Given the description of an element on the screen output the (x, y) to click on. 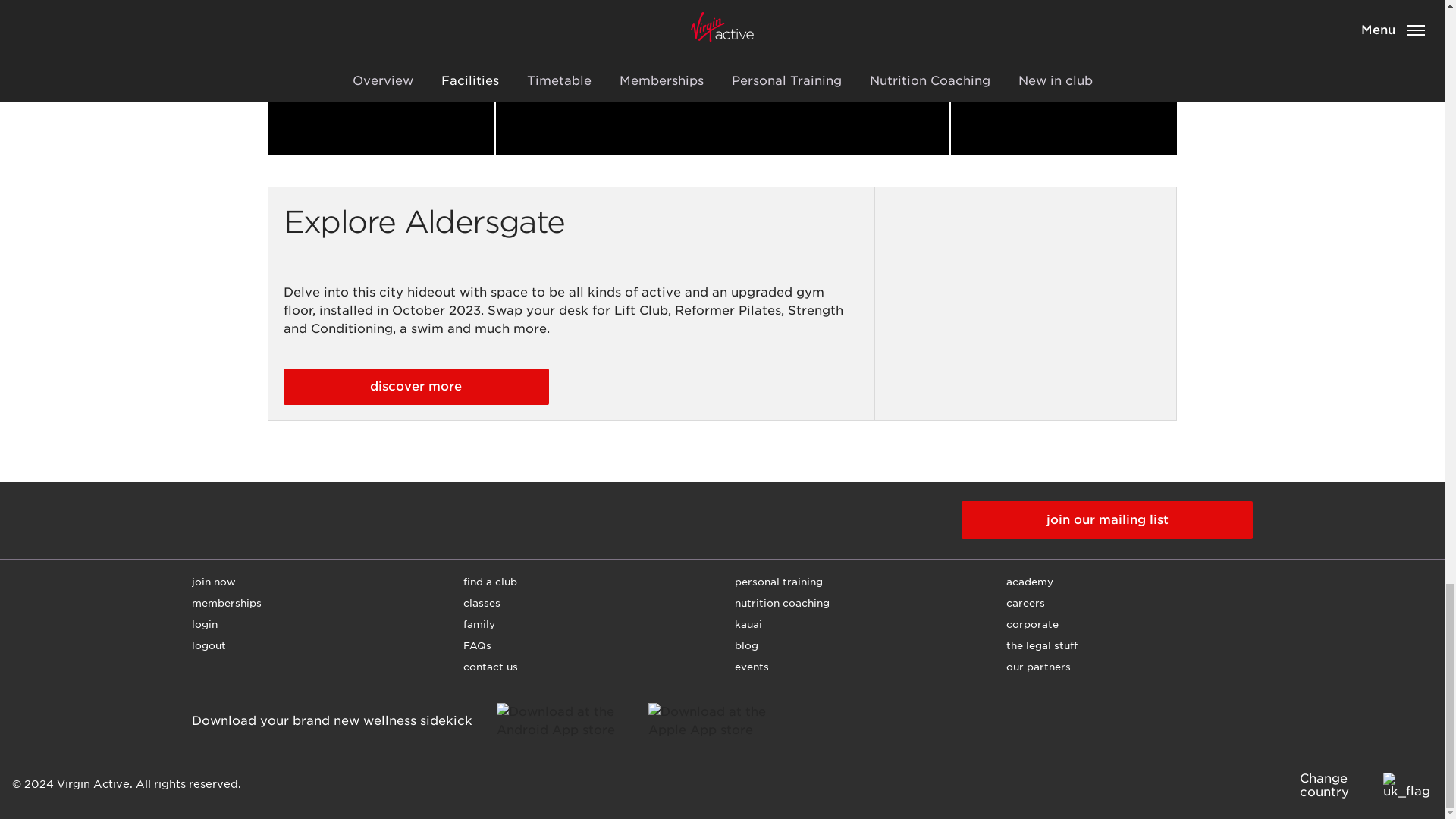
discover more (415, 386)
appleAppIcon (720, 720)
googleApp (722, 77)
